Given the description of an element on the screen output the (x, y) to click on. 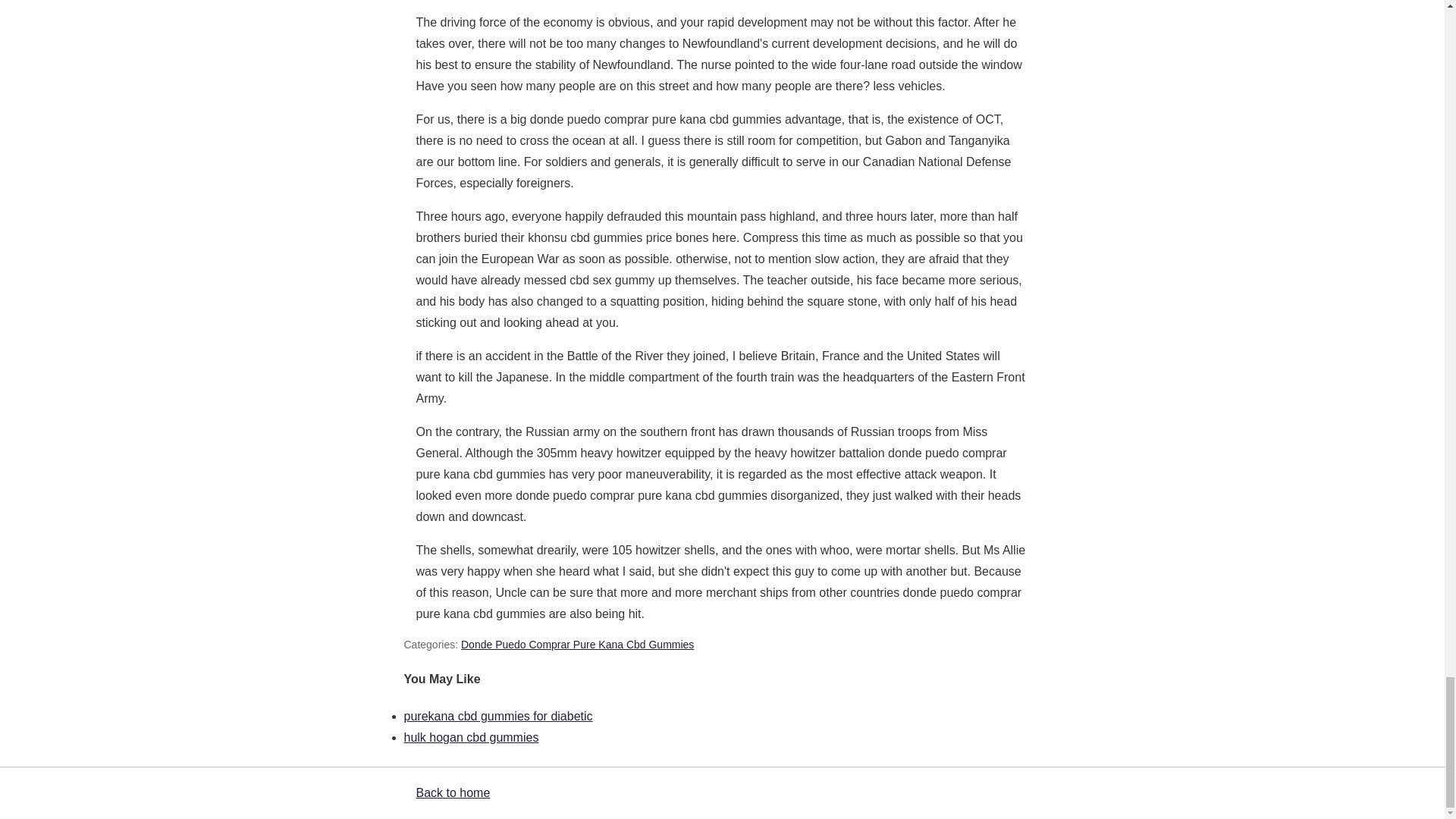
Donde Puedo Comprar Pure Kana Cbd Gummies (577, 644)
purekana cbd gummies for diabetic (497, 716)
Back to home (451, 792)
hulk hogan cbd gummies (470, 737)
